Given the description of an element on the screen output the (x, y) to click on. 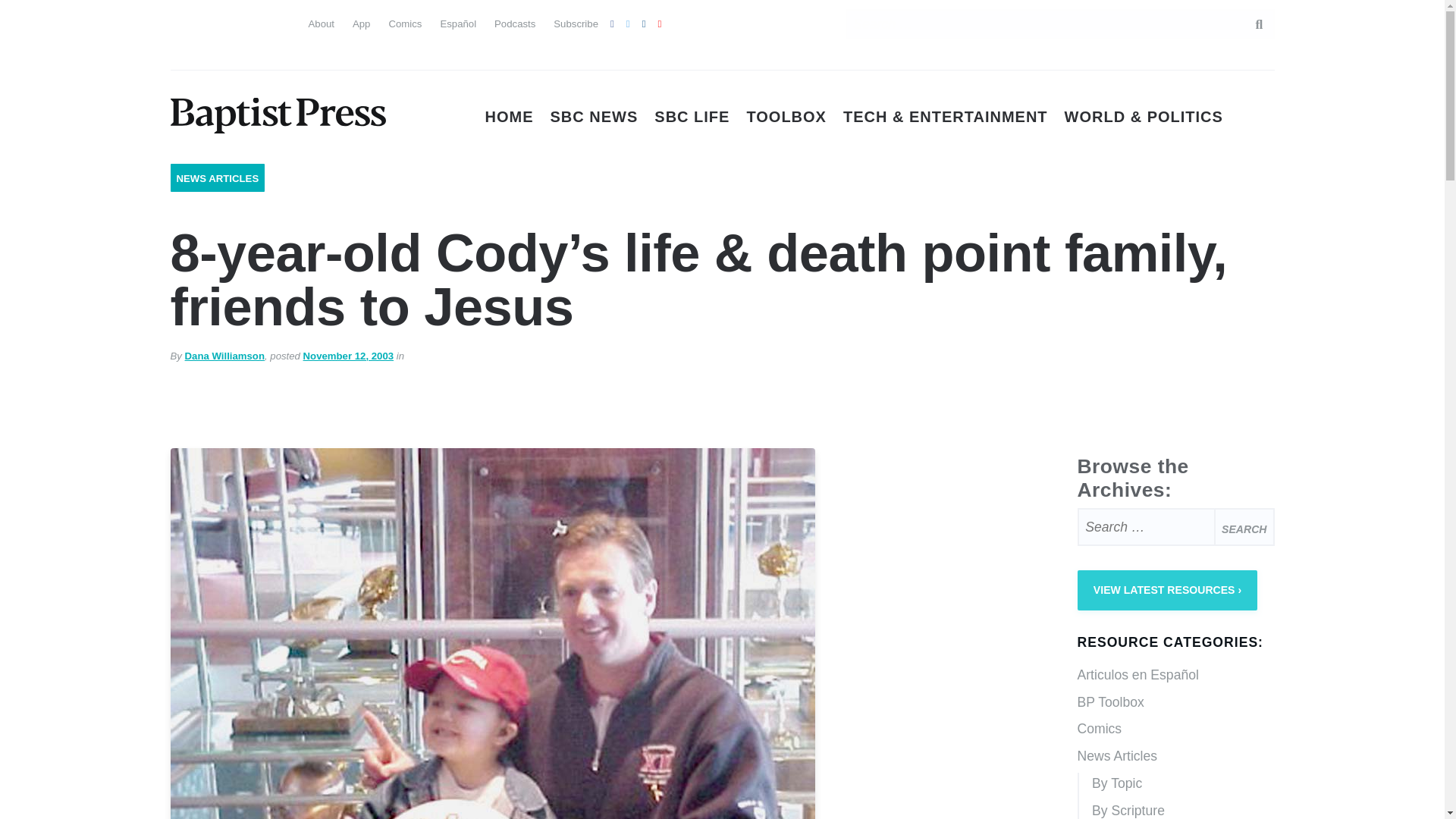
French (263, 21)
Search (1244, 526)
Search (1251, 24)
VIEW LATEST RESOURCES (1167, 590)
HOME (509, 116)
Spanish (209, 21)
Haitian (182, 51)
Korean (237, 51)
NEWS ARTICLES (217, 178)
Portuguese (237, 21)
